Given the description of an element on the screen output the (x, y) to click on. 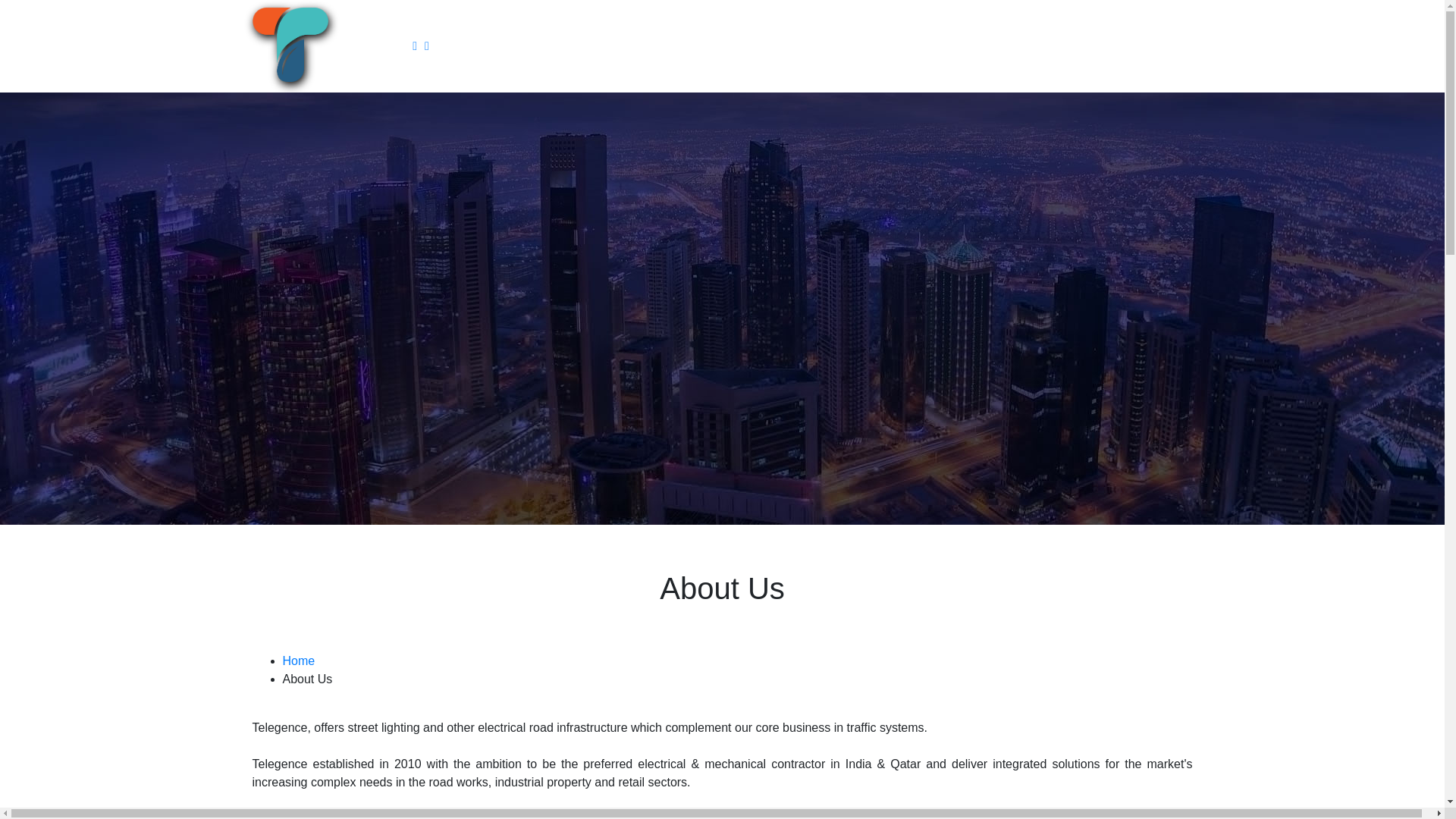
Home (298, 660)
Our Products (430, 46)
Our Services (418, 46)
